Given the description of an element on the screen output the (x, y) to click on. 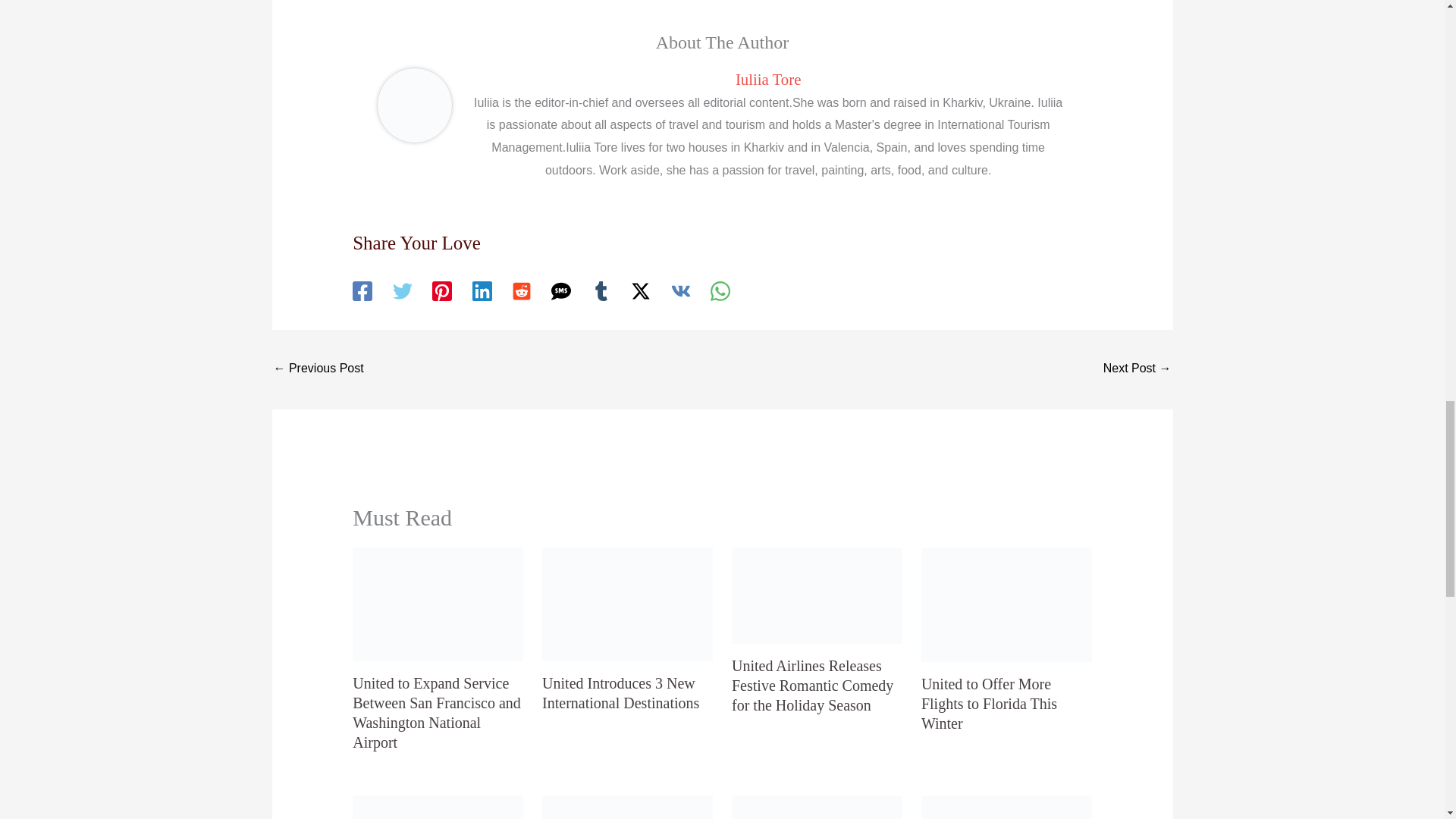
Hyatt Centric Opens in Denver (1137, 369)
Wizz Air to Connect Abu Dhabi to Moscow (317, 369)
United Introduces 3 New International Destinations 4 (627, 603)
